Given the description of an element on the screen output the (x, y) to click on. 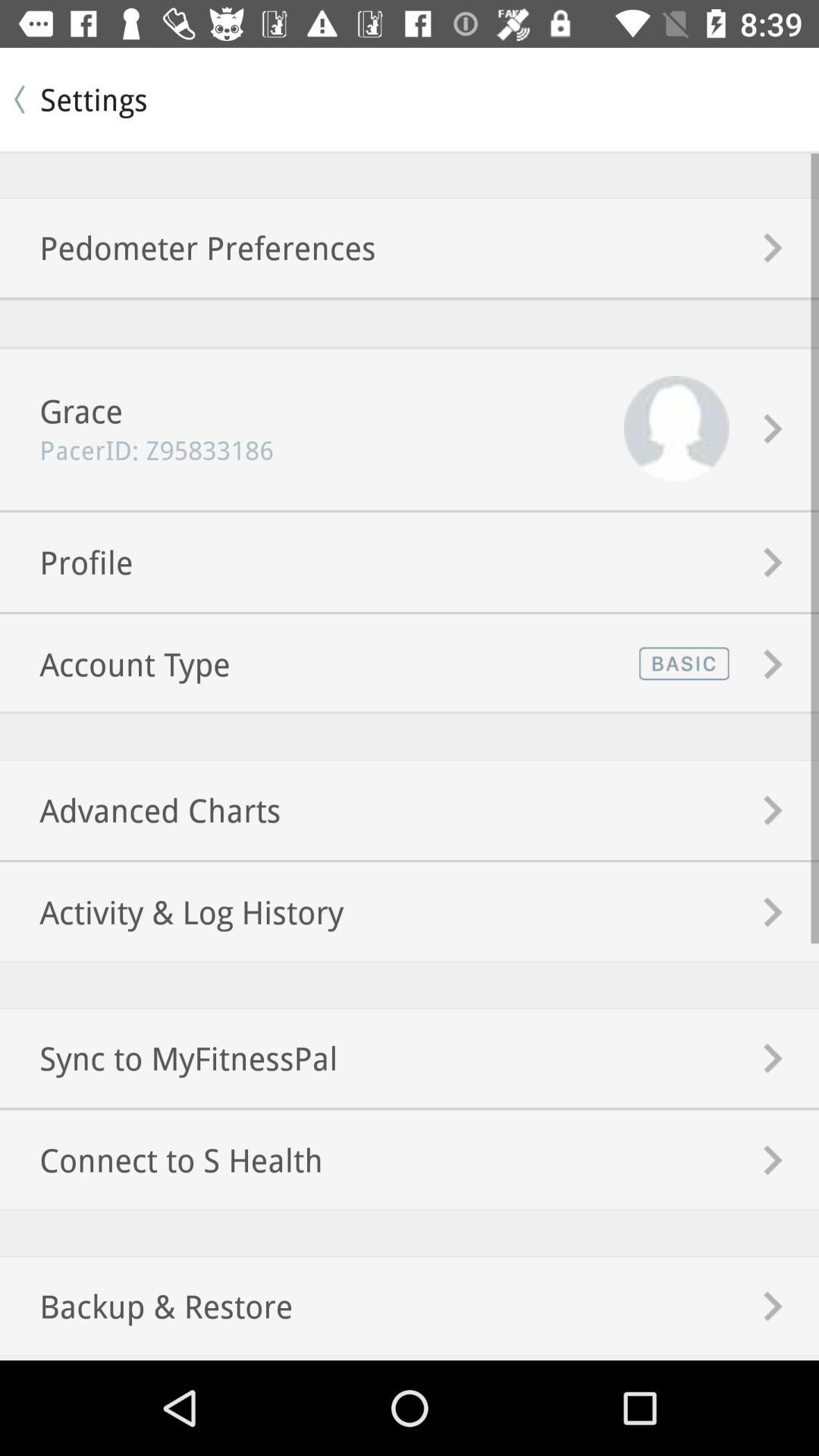
jump to the grace item (61, 410)
